Given the description of an element on the screen output the (x, y) to click on. 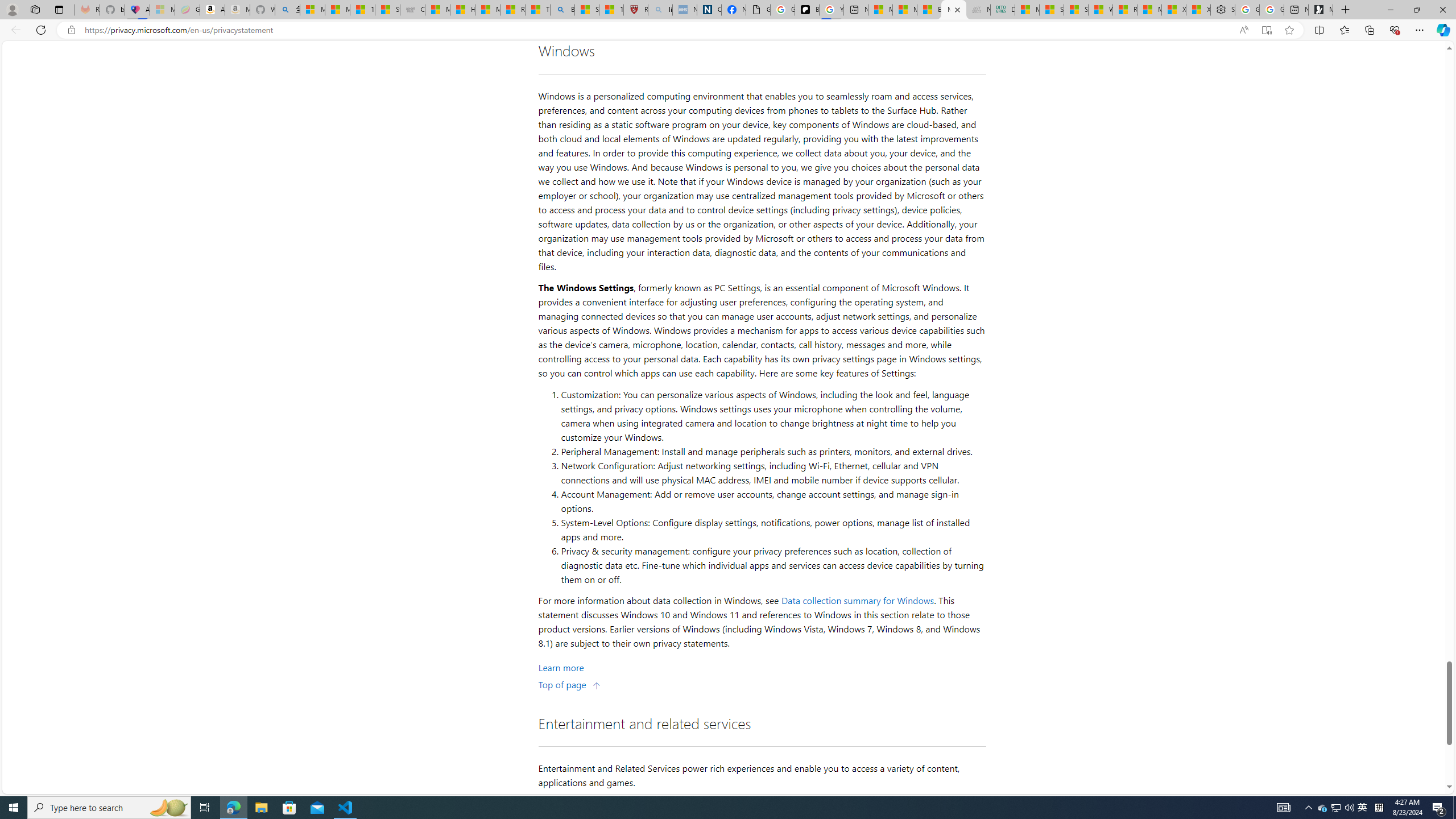
Be Smart | creating Science videos | Patreon (807, 9)
Bing (562, 9)
Google Analytics Opt-out Browser Add-on Download Page (757, 9)
R******* | Trusted Community Engagement and Contributions (1124, 9)
Entertainment - MSN (929, 9)
